Given the description of an element on the screen output the (x, y) to click on. 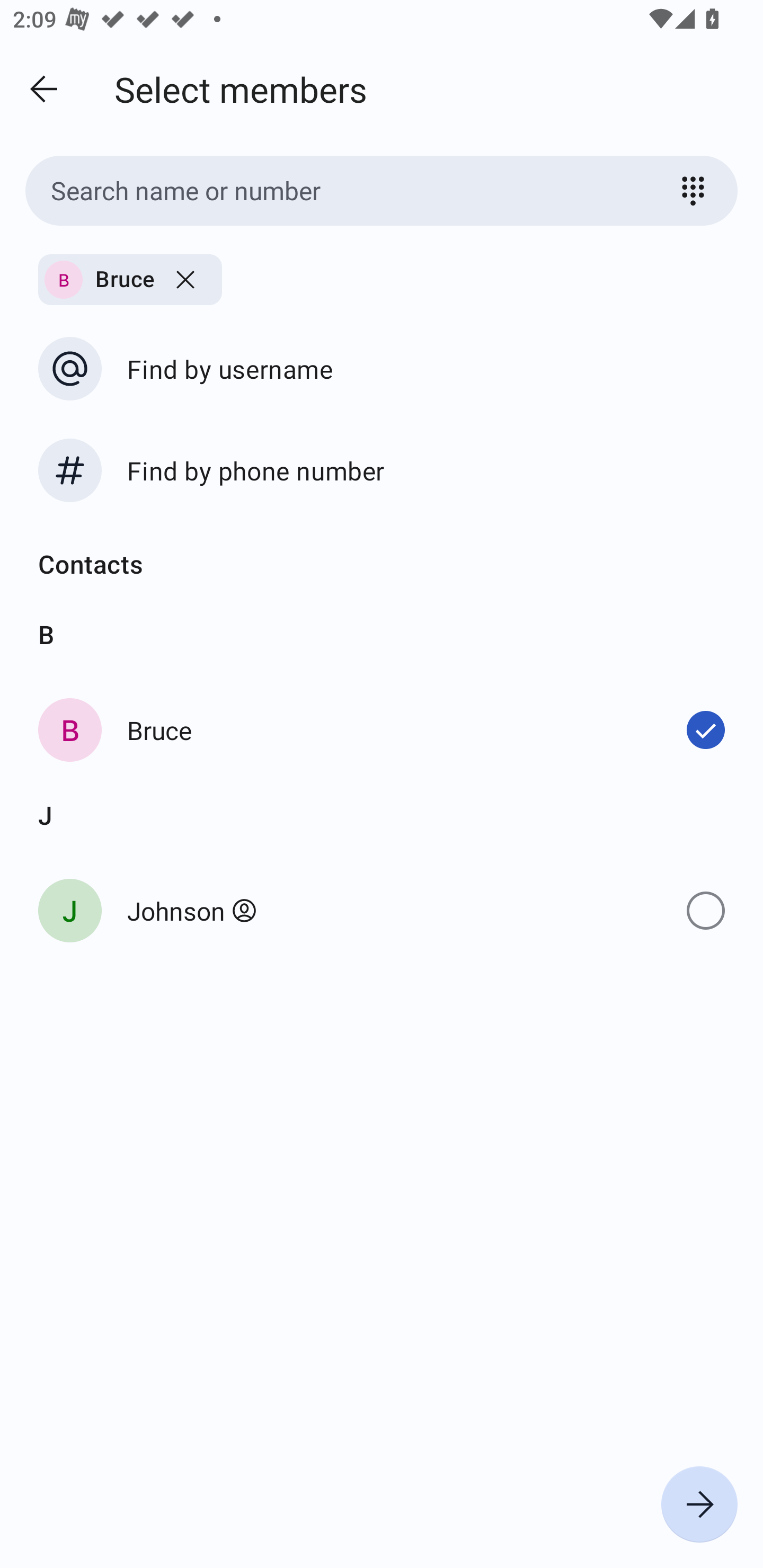
Contact Photo Badge Johnson   (381, 910)
